Given the description of an element on the screen output the (x, y) to click on. 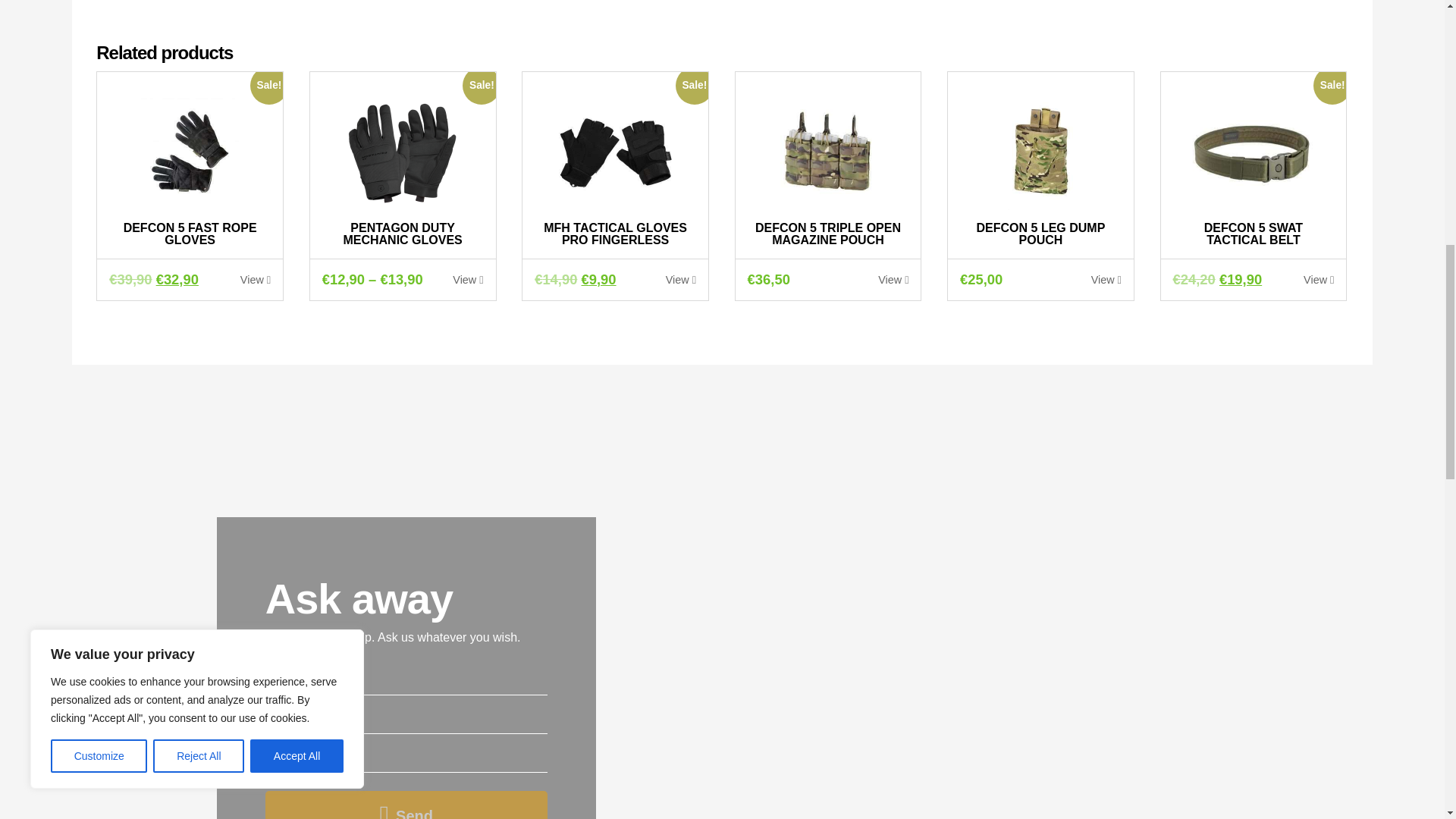
View this product (680, 279)
View this product (467, 279)
View this product (255, 279)
View this product (1105, 279)
View this product (892, 279)
View this product (1318, 279)
